Given the description of an element on the screen output the (x, y) to click on. 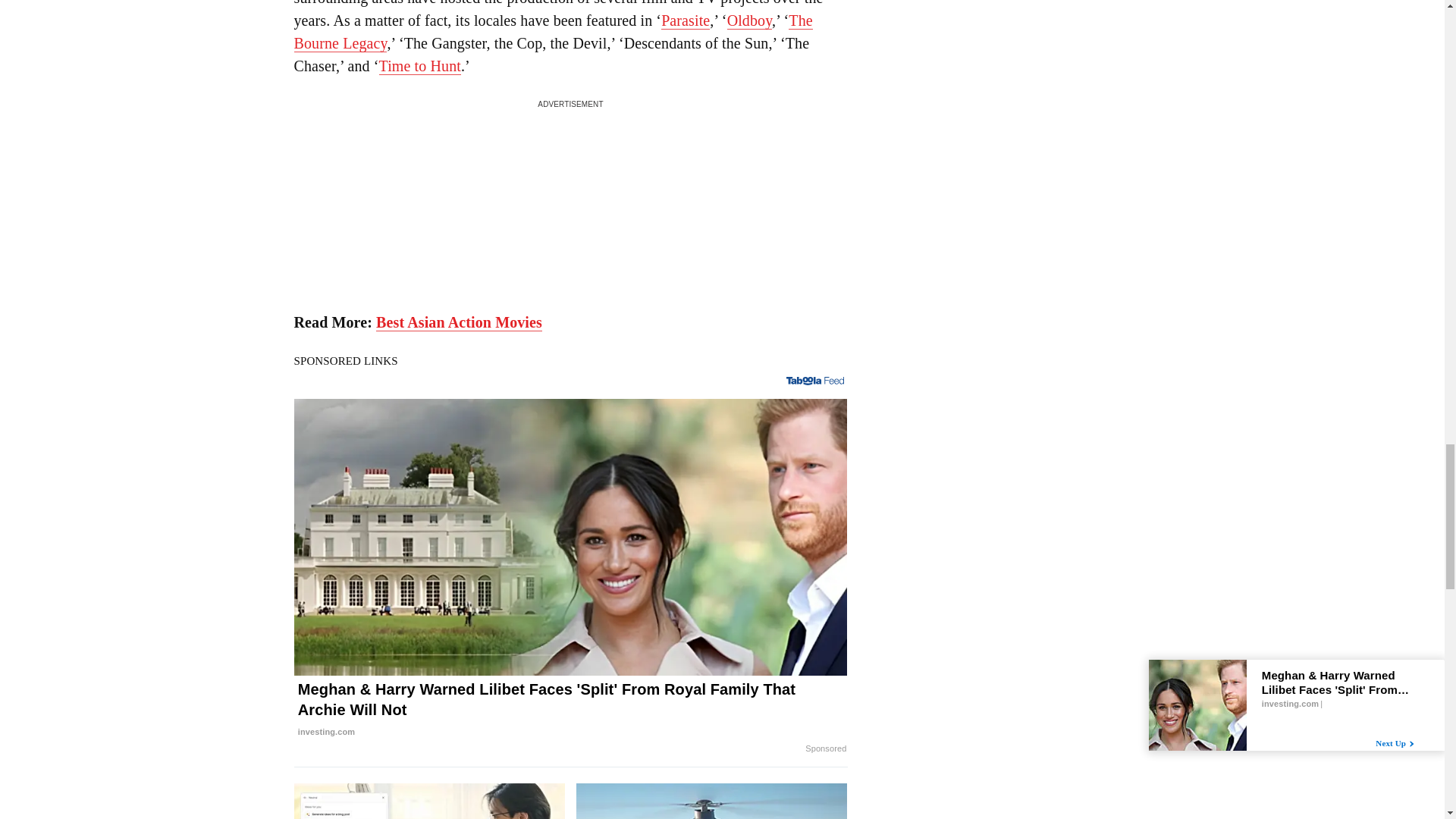
Sponsored (825, 748)
The Bourne Legacy (553, 32)
Oldboy (748, 20)
Parasite (685, 20)
Time to Hunt (419, 66)
Best Asian Action Movies (458, 322)
